Given the description of an element on the screen output the (x, y) to click on. 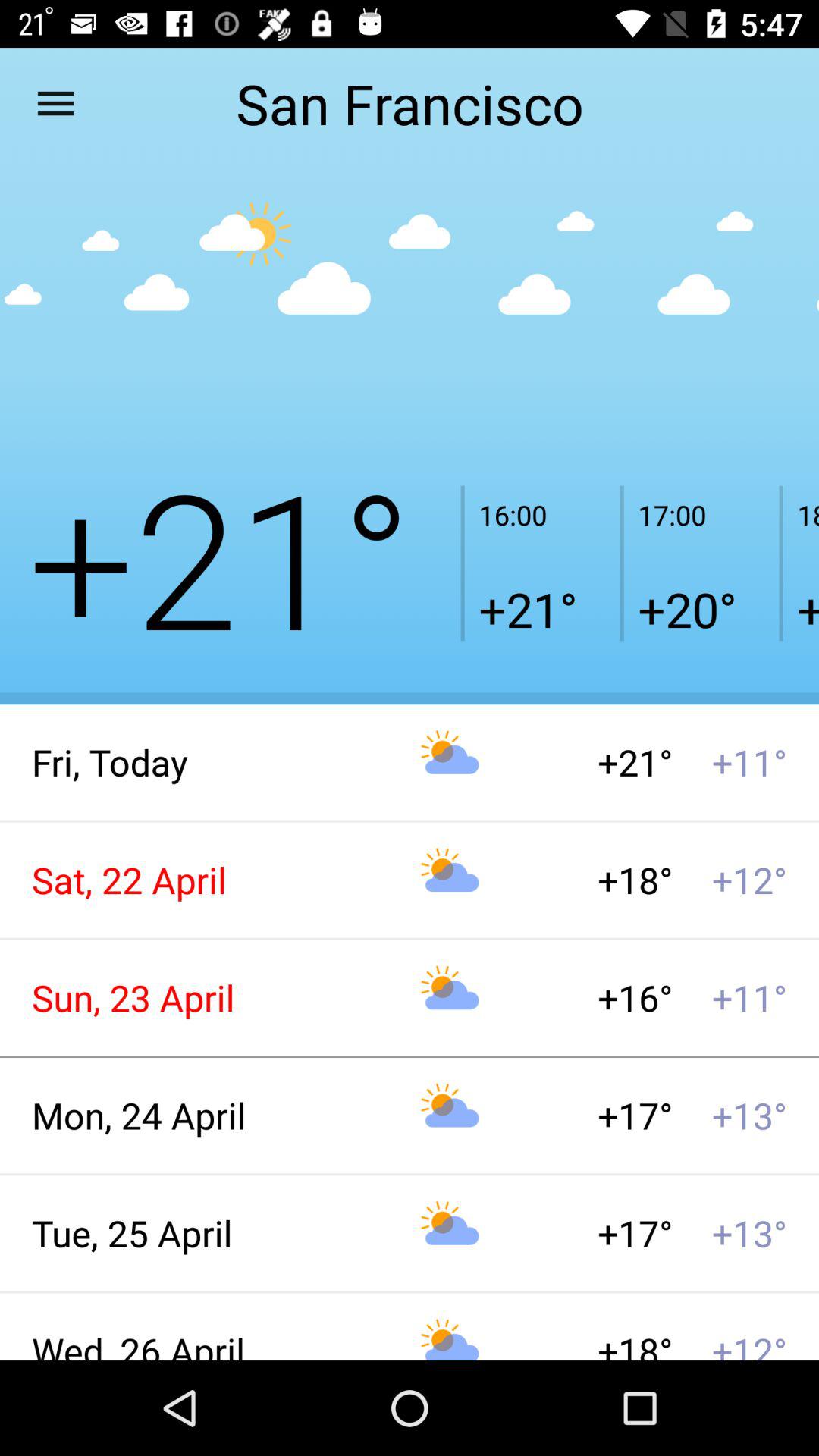
swipe until the san francisco (409, 103)
